Given the description of an element on the screen output the (x, y) to click on. 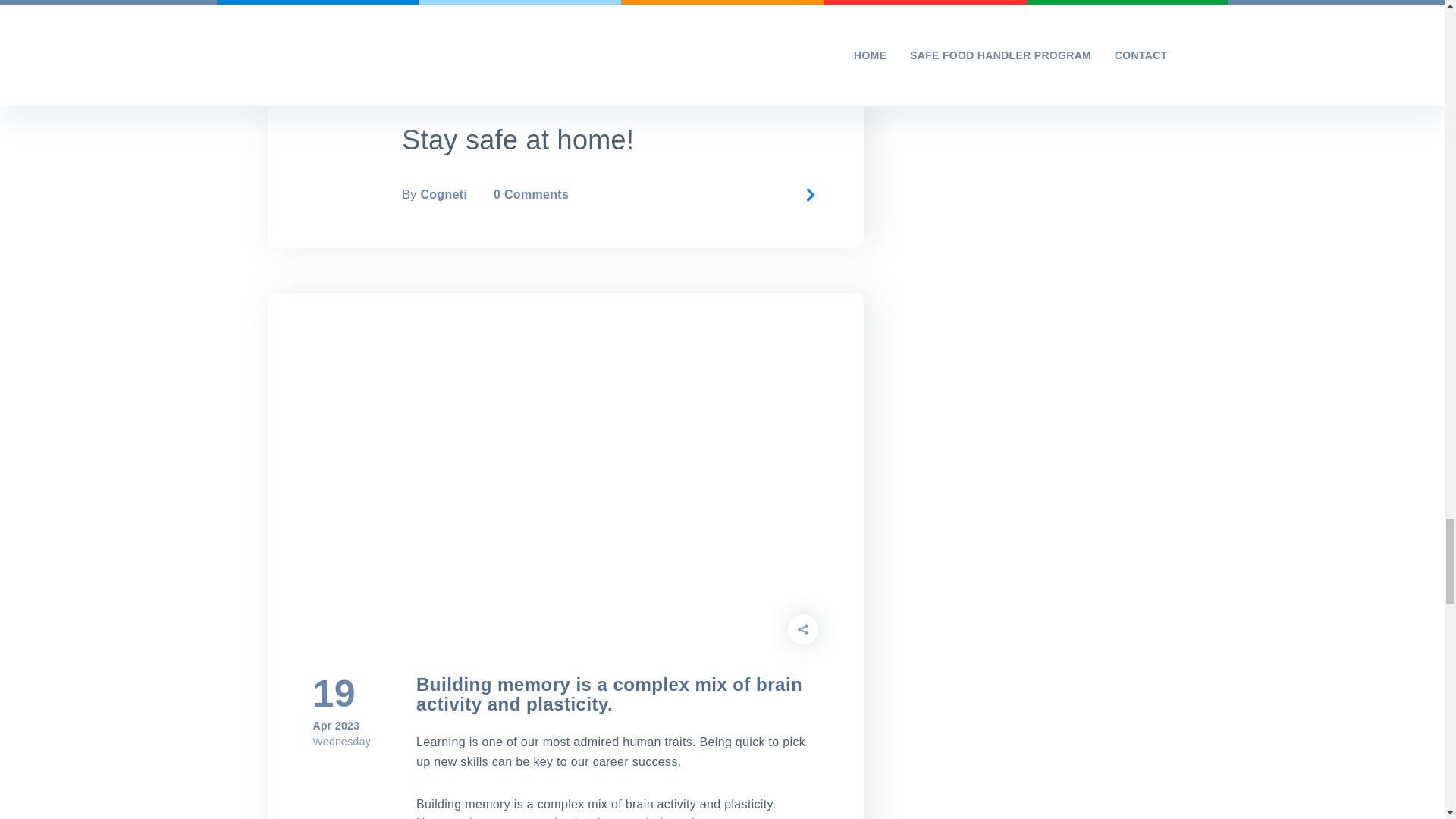
Cogneti (443, 194)
0 Comments (531, 194)
